Given the description of an element on the screen output the (x, y) to click on. 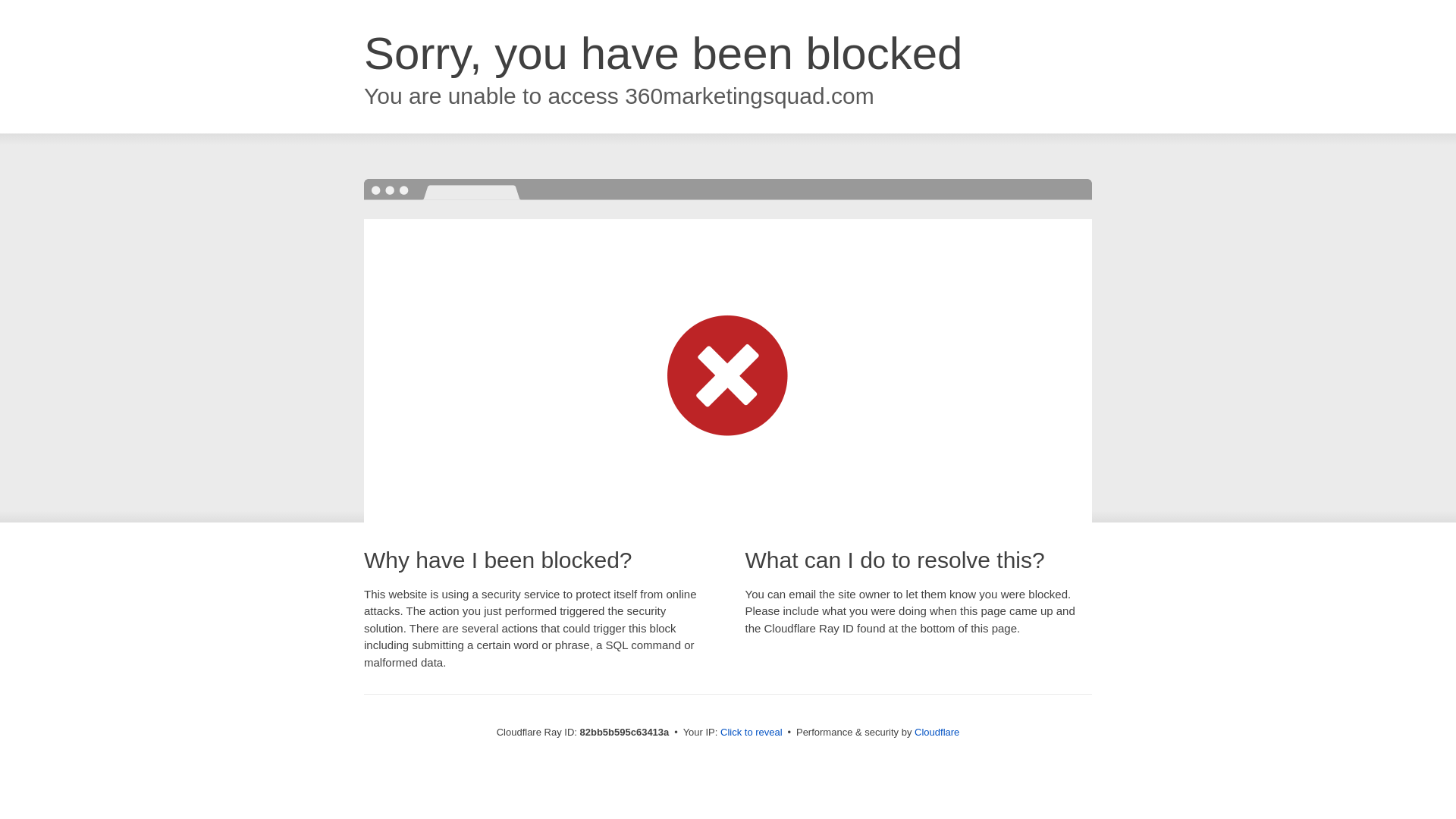
Cloudflare Element type: text (936, 731)
Click to reveal Element type: text (751, 732)
